Given the description of an element on the screen output the (x, y) to click on. 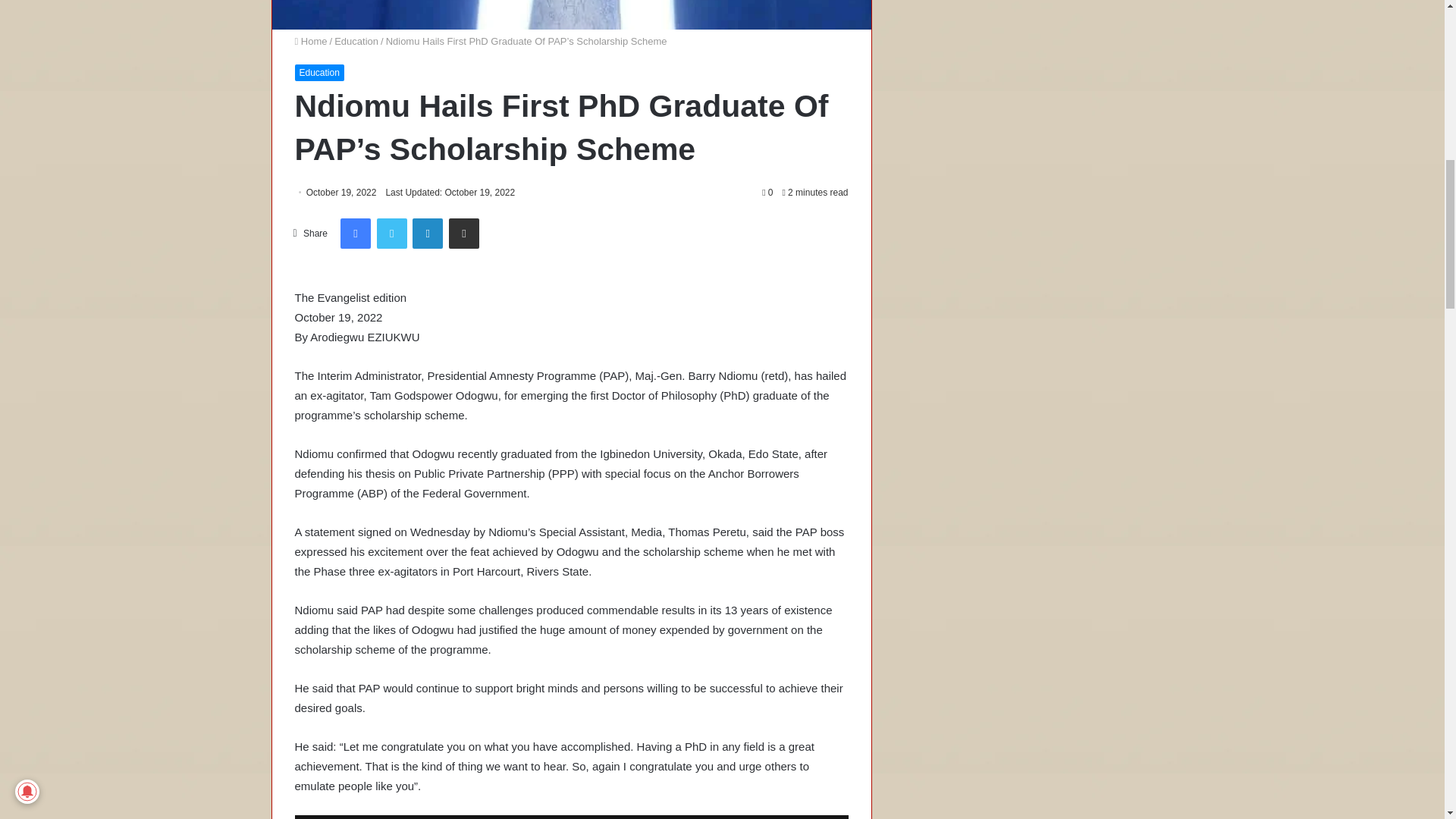
Twitter (392, 233)
Facebook (355, 233)
Share via Email (463, 233)
LinkedIn (427, 233)
